Given the description of an element on the screen output the (x, y) to click on. 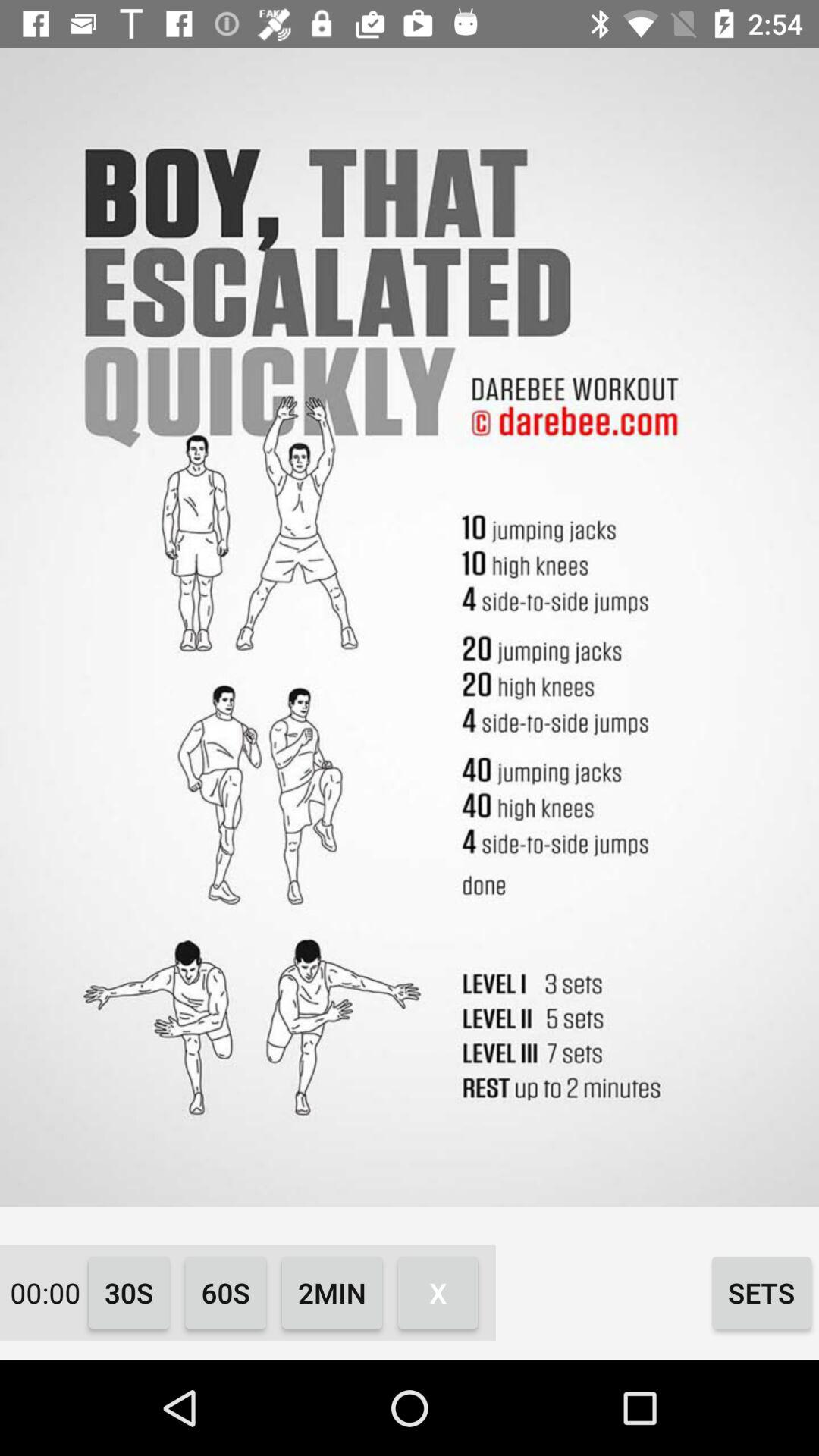
select item next to the x icon (332, 1292)
